Given the description of an element on the screen output the (x, y) to click on. 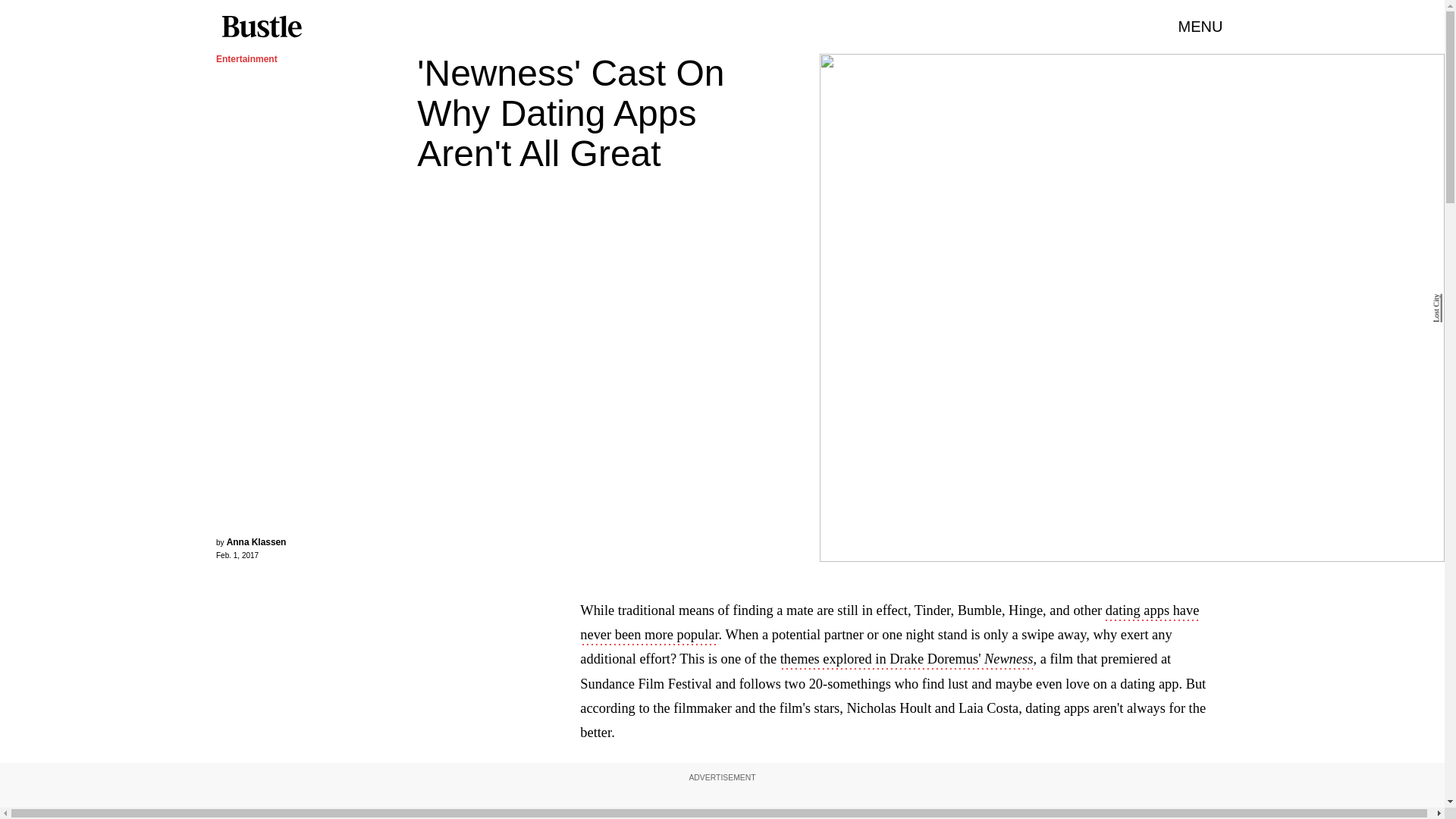
themes explored in Drake Doremus' Newness (906, 660)
Lost City (1436, 307)
Bustle (261, 26)
dating apps have never been more popular (888, 623)
